Given the description of an element on the screen output the (x, y) to click on. 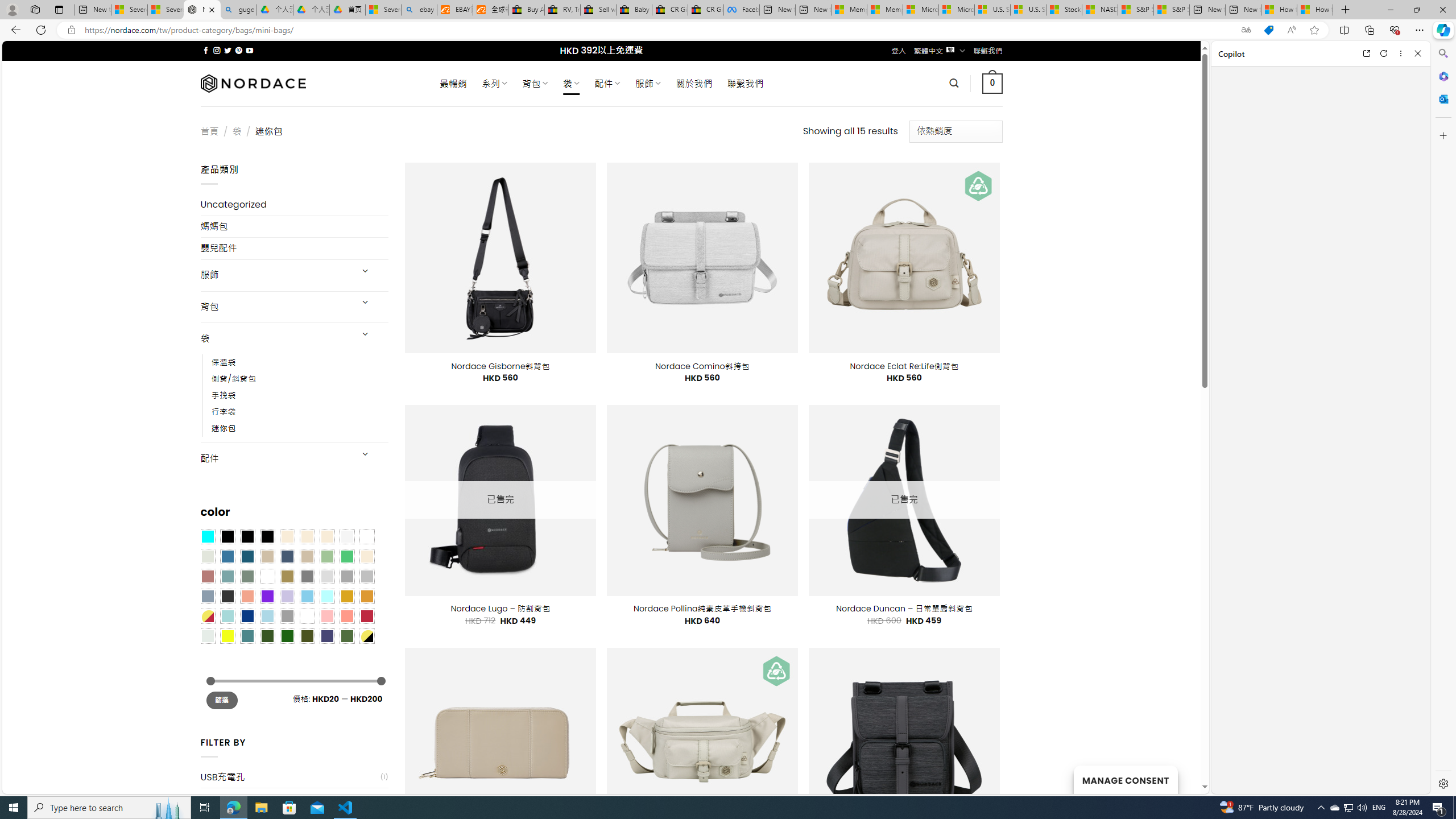
Uncategorized (294, 204)
